Given the description of an element on the screen output the (x, y) to click on. 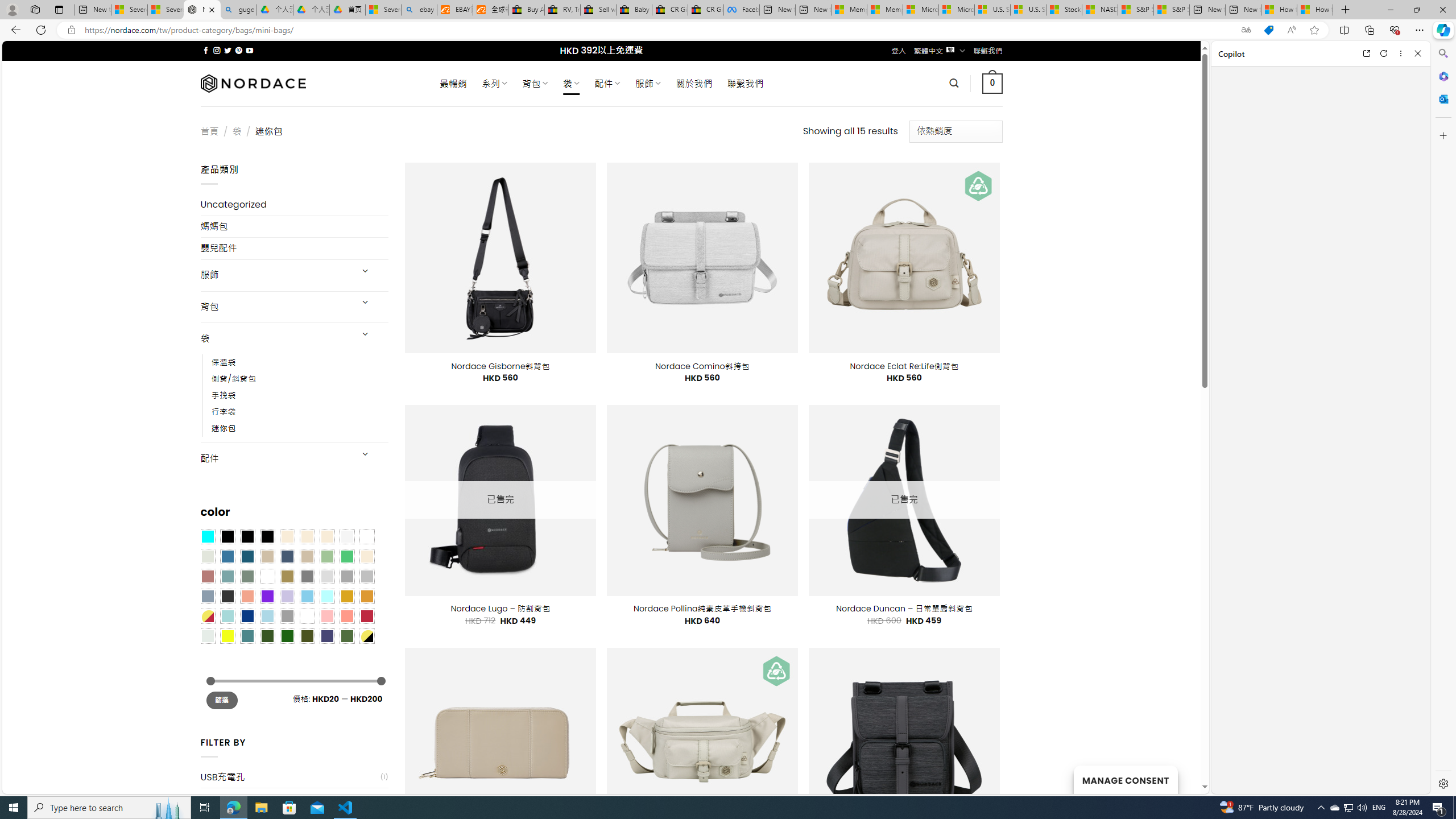
Uncategorized (294, 204)
